Given the description of an element on the screen output the (x, y) to click on. 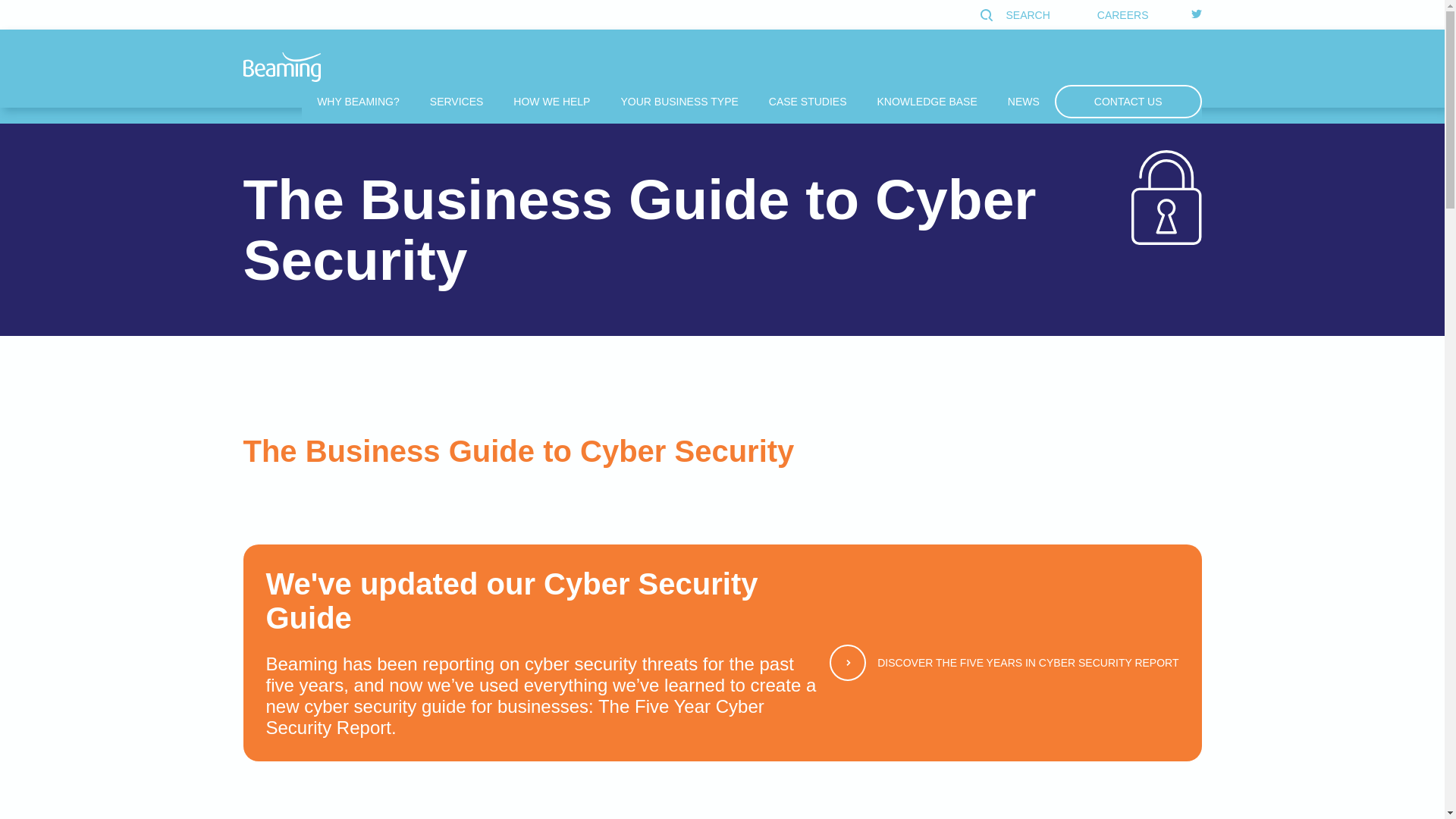
SERVICES (456, 101)
BEAMING (281, 66)
WHY BEAMING? (357, 101)
CAREERS (1123, 15)
HOW WE HELP (551, 101)
CAREERS (1123, 14)
SEARCH (1016, 15)
